Given the description of an element on the screen output the (x, y) to click on. 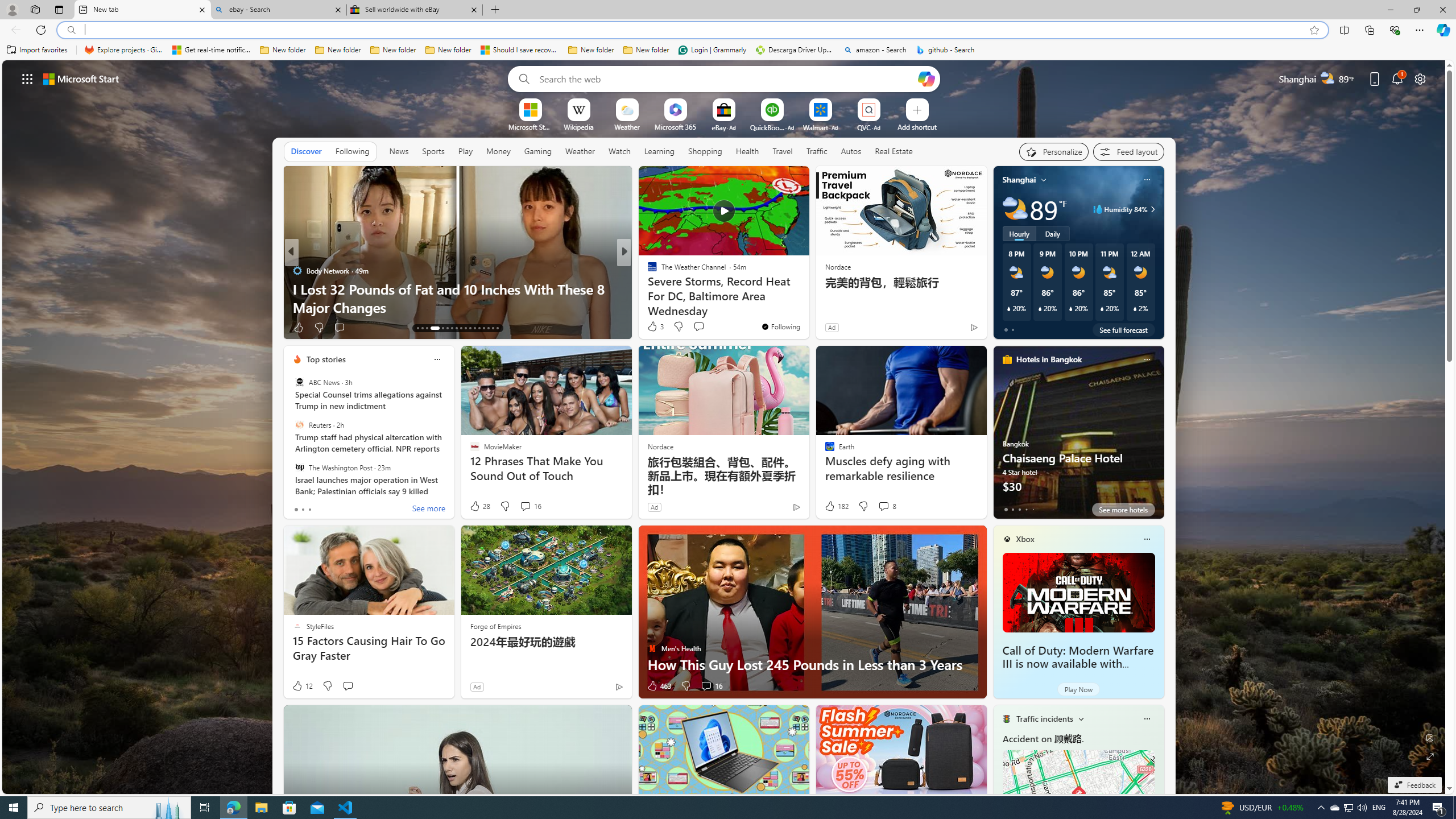
Forge of Empires (495, 625)
AutomationID: tab-19 (451, 328)
99 Like (652, 327)
Watch (619, 151)
More Options (886, 101)
